Given the description of an element on the screen output the (x, y) to click on. 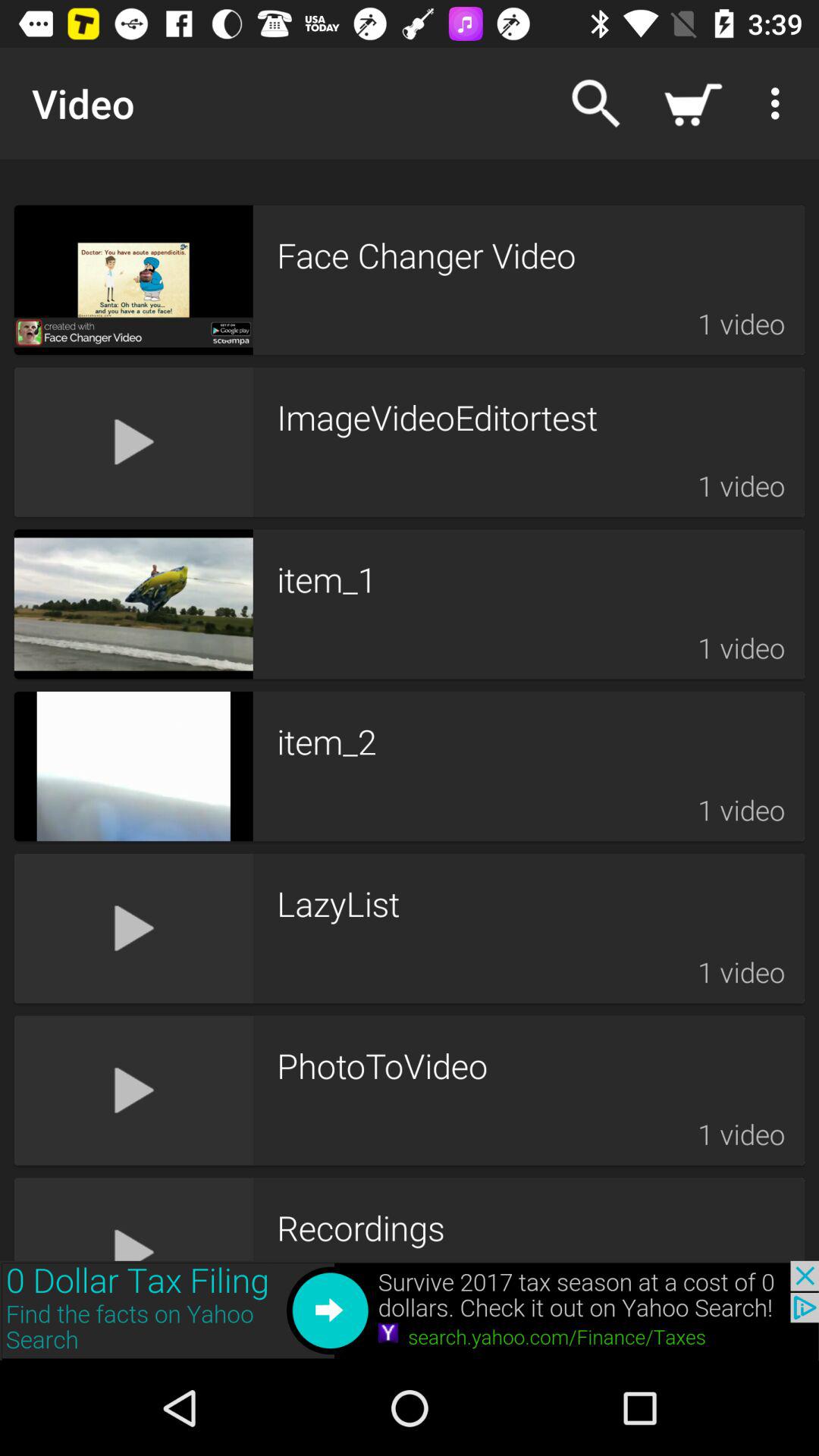
go to back (409, 1310)
